Given the description of an element on the screen output the (x, y) to click on. 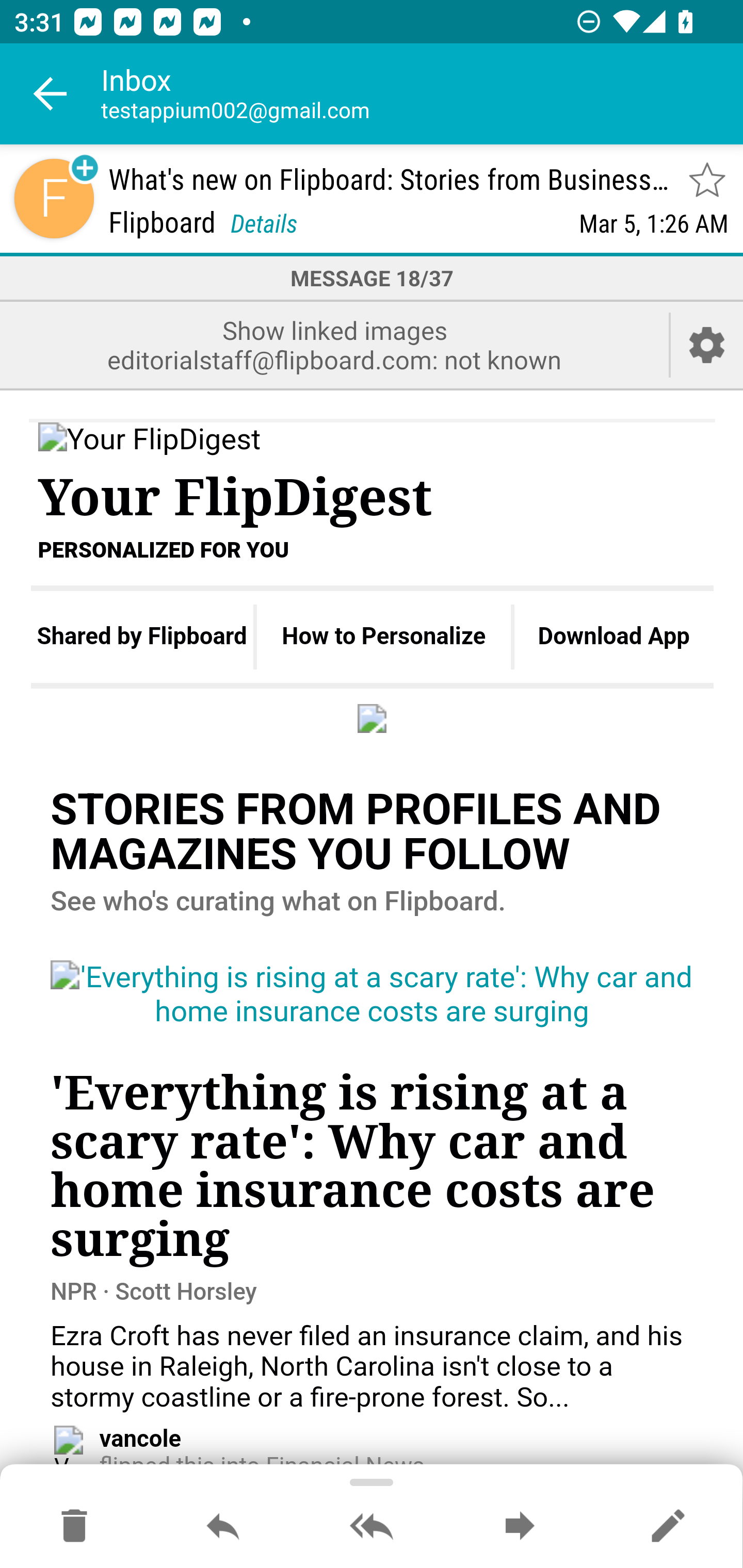
Navigate up (50, 93)
Inbox testappium002@gmail.com (422, 93)
Sender contact button (53, 198)
Account setup (706, 344)
Shared by Flipboard (141, 636)
How to Personalize (384, 636)
Download App (613, 636)
data: (372, 717)
Move to Deleted (74, 1527)
Reply (222, 1527)
Reply all (371, 1527)
Forward (519, 1527)
Reply as new (667, 1527)
